Given the description of an element on the screen output the (x, y) to click on. 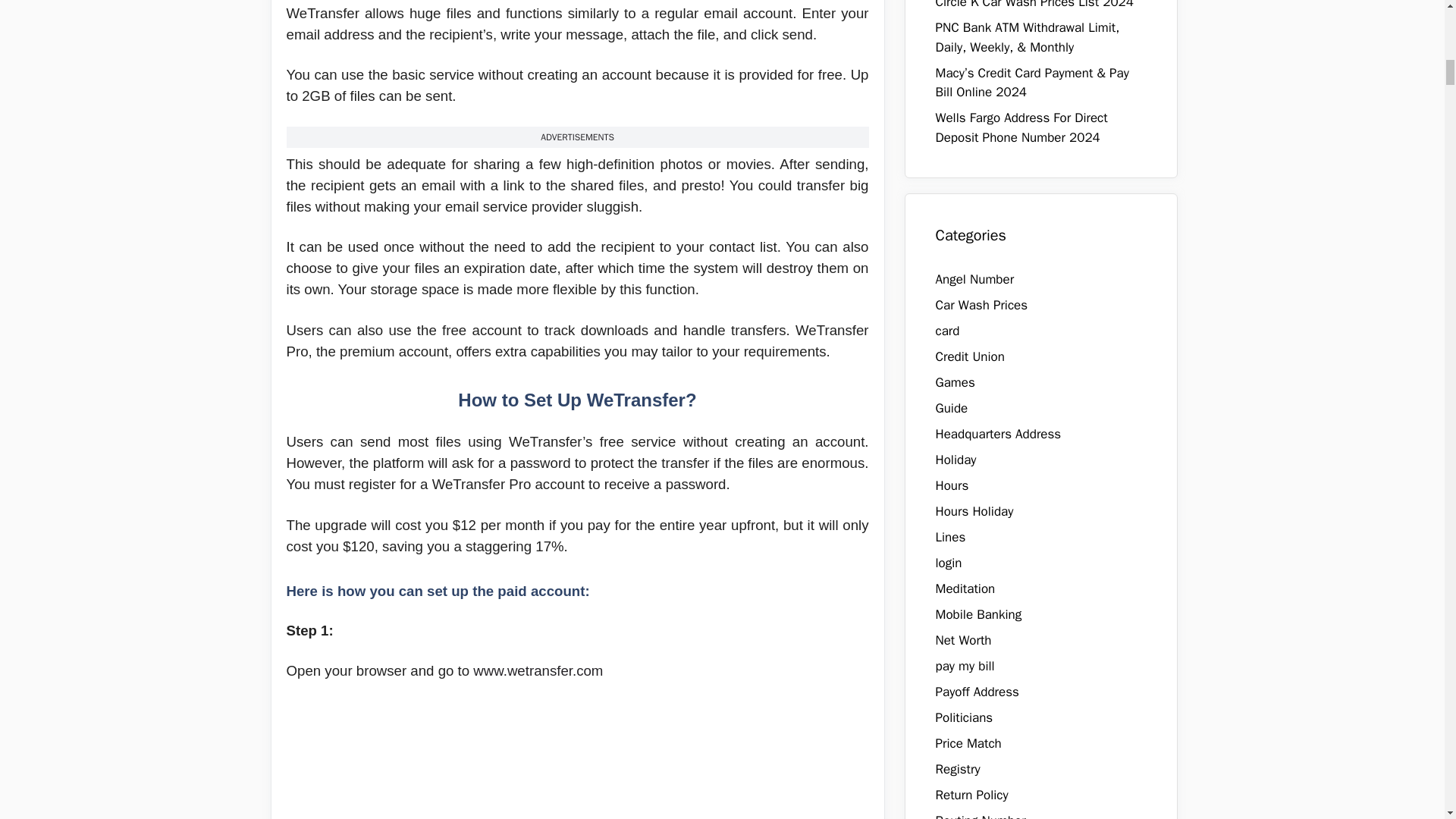
Guide (952, 408)
Circle K Car Wash Prices List 2024 (1035, 4)
Wells Fargo Address For Direct Deposit Phone Number 2024 (1022, 127)
Games (955, 382)
card (947, 330)
ADVERTISEMENTS (577, 137)
Headquarters Address (998, 433)
www.wetransfer.com (537, 670)
Credit Union (970, 356)
Car Wash Prices (981, 304)
Angel Number (975, 279)
